Given the description of an element on the screen output the (x, y) to click on. 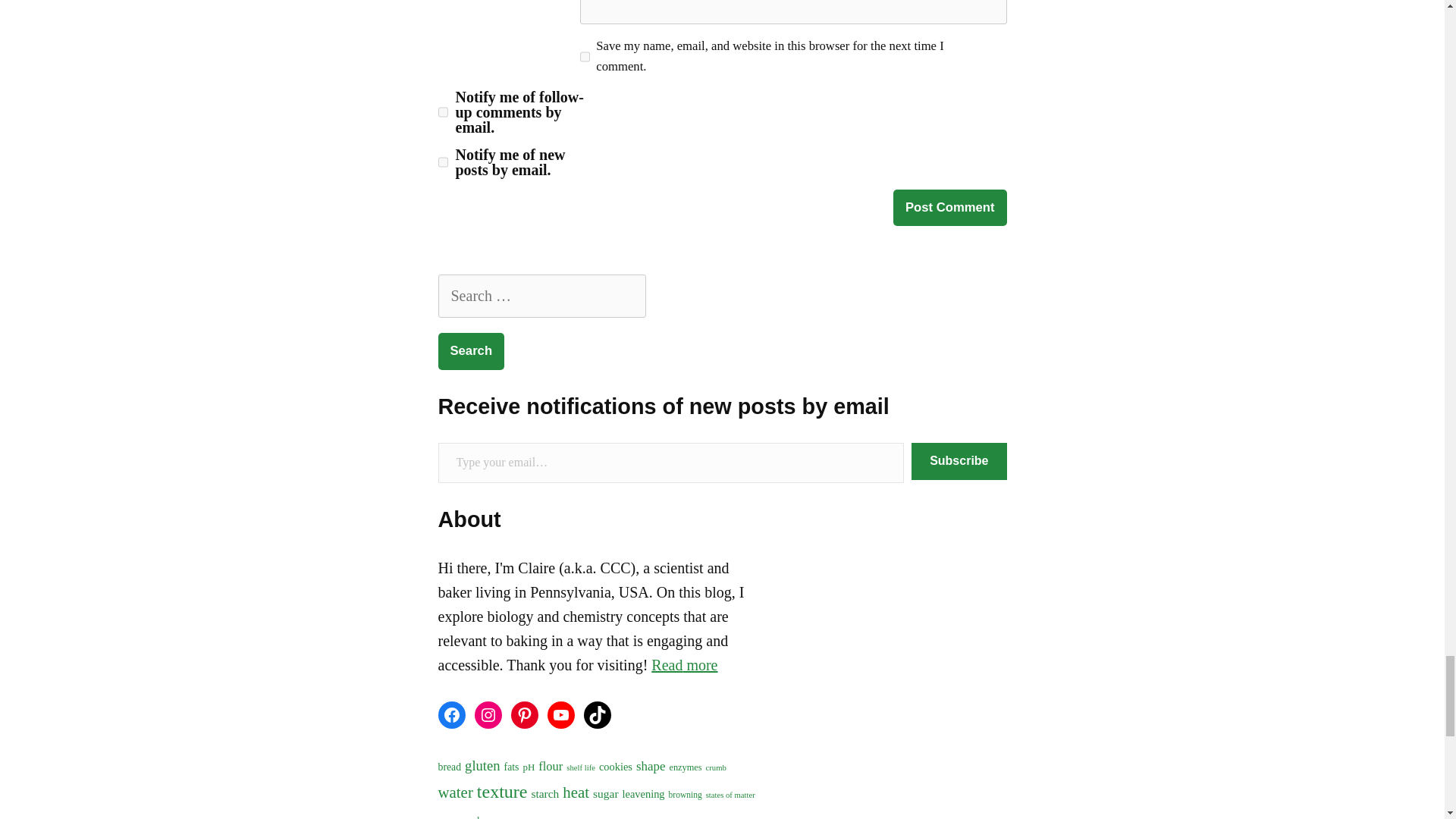
Post Comment (950, 207)
Search (471, 351)
Search (471, 351)
Please fill in this field. (671, 463)
